Given the description of an element on the screen output the (x, y) to click on. 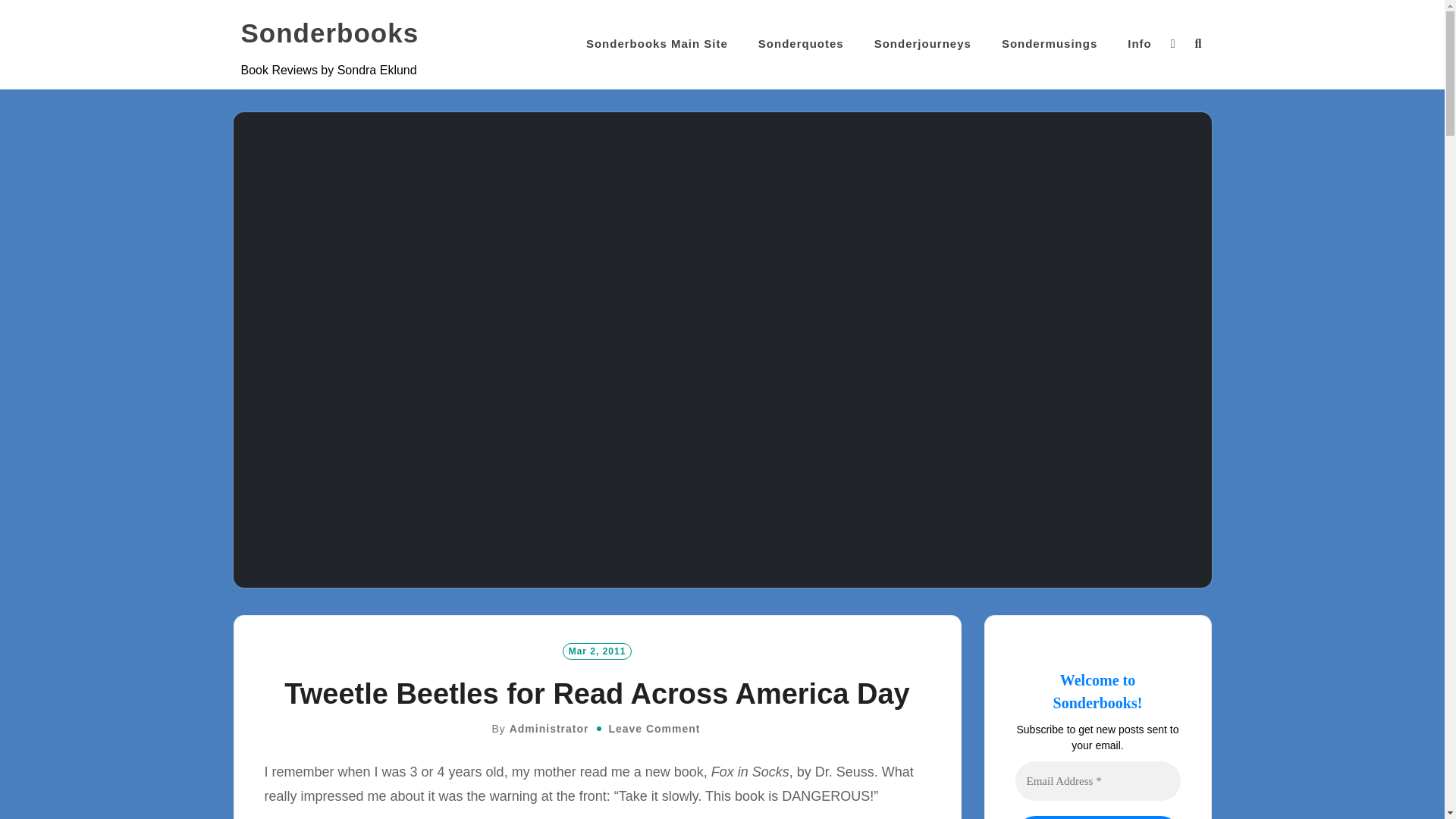
Sonderjourneys (923, 44)
Leave Comment (654, 728)
Sondermusings (1049, 44)
Sonderquotes (801, 44)
Sonderbooks (330, 33)
Subscribe (1096, 817)
Sonderbooks Main Site (657, 44)
Administrator (549, 728)
Email Address (1096, 781)
Subscribe (1096, 817)
Mar 2, 2011 (596, 651)
